Given the description of an element on the screen output the (x, y) to click on. 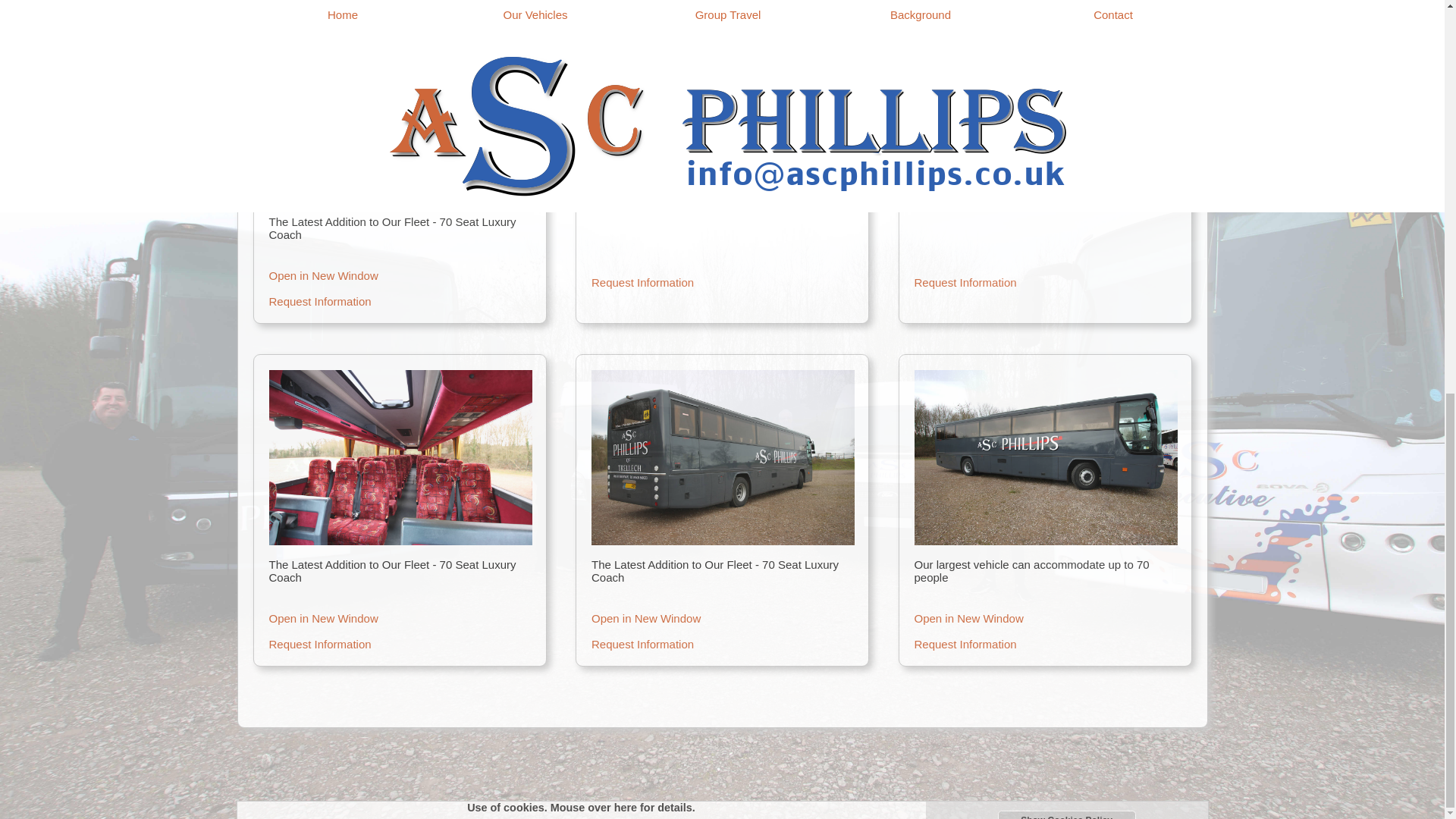
Open in New Window (398, 617)
Request Information (398, 300)
Open in New Window (722, 183)
Open in New Window (398, 274)
Open in New Window (1045, 183)
Open in New Window (722, 617)
Request Information (1045, 282)
Request Information (722, 644)
Request Information (398, 644)
Open in New Window (1045, 617)
